Given the description of an element on the screen output the (x, y) to click on. 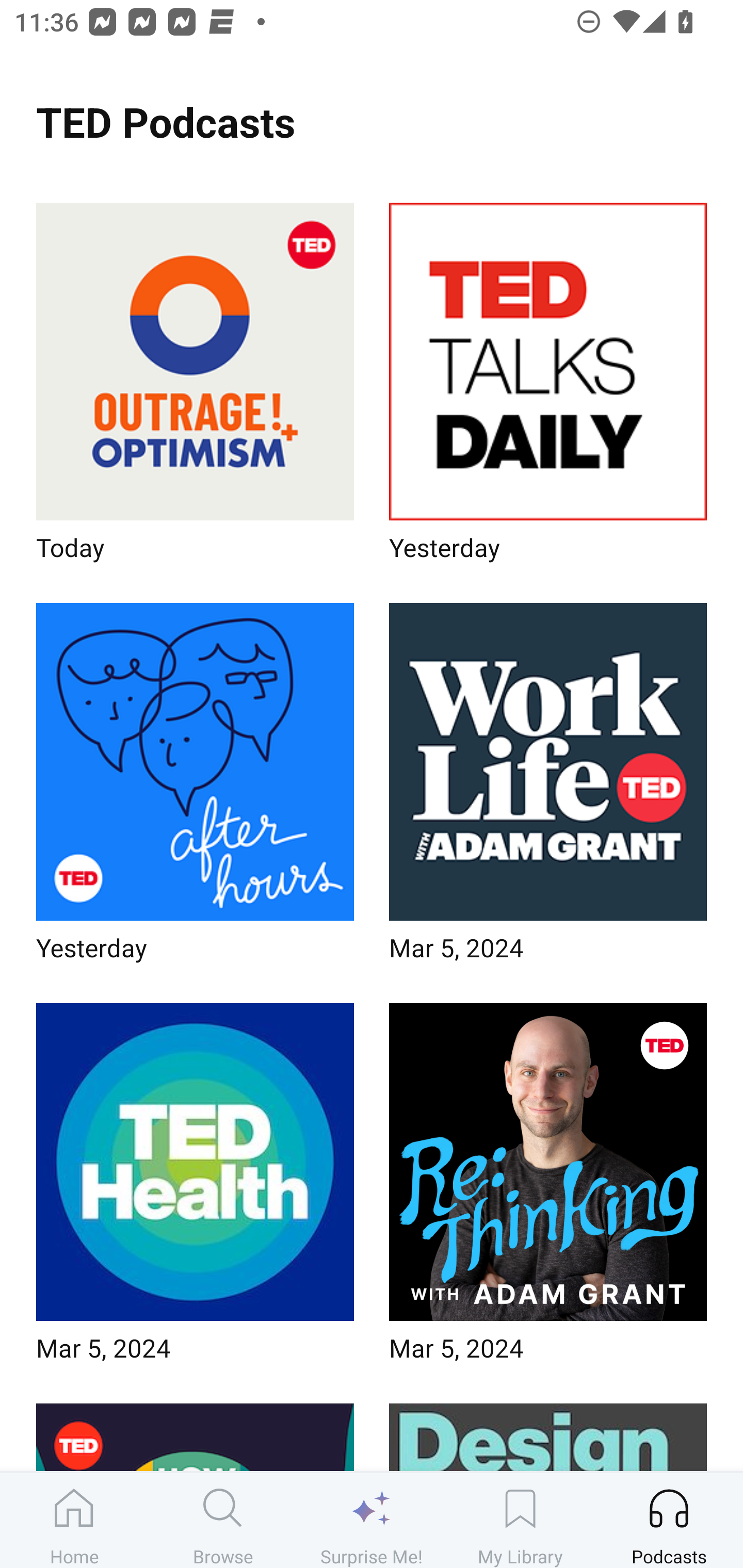
Today (194, 387)
Yesterday (547, 387)
Yesterday (194, 788)
Mar 5, 2024 (547, 788)
Mar 5, 2024 (194, 1189)
Mar 5, 2024 (547, 1189)
Home (74, 1520)
Browse (222, 1520)
Surprise Me! (371, 1520)
My Library (519, 1520)
Podcasts (668, 1520)
